Given the description of an element on the screen output the (x, y) to click on. 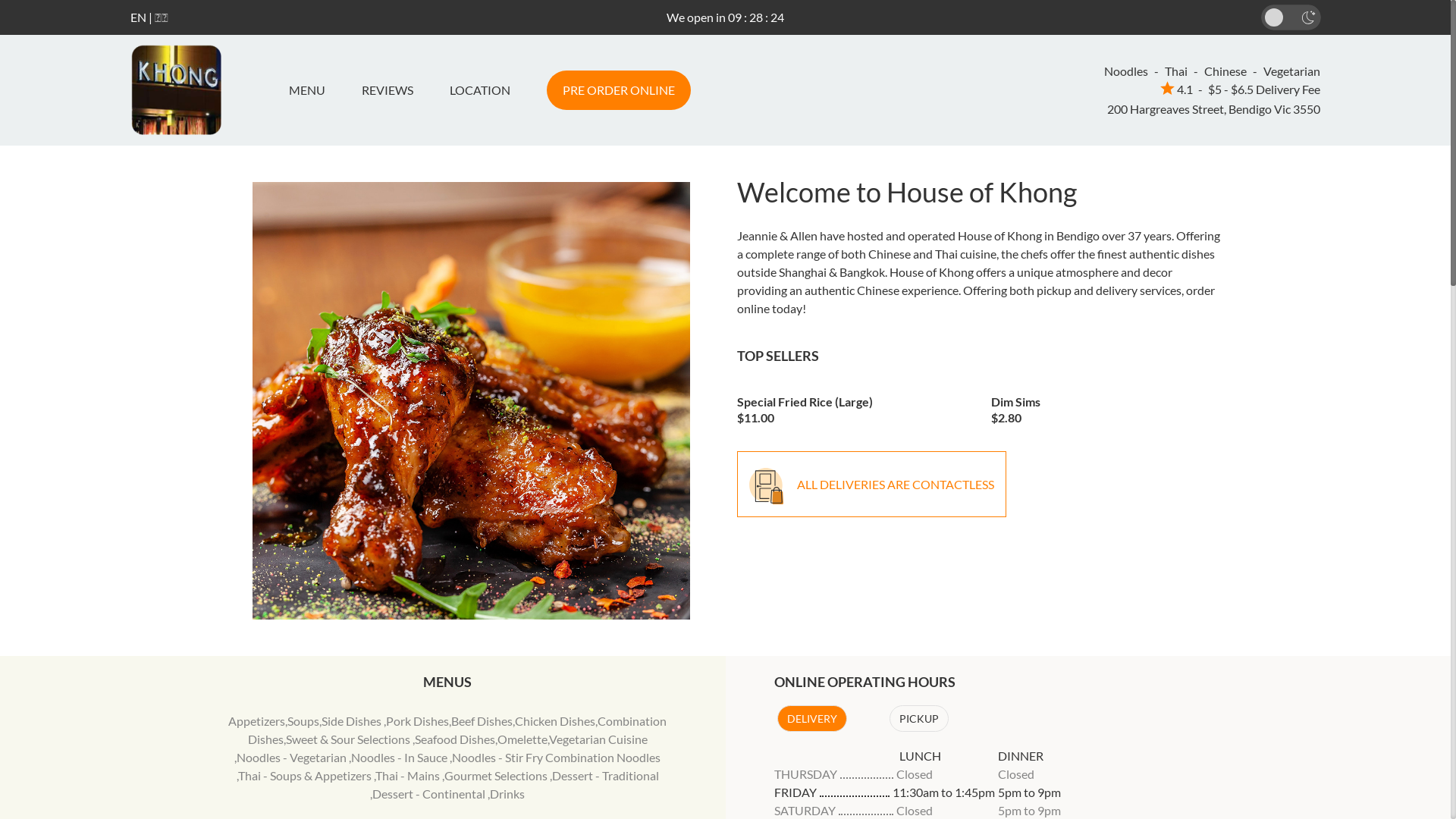
Soups Element type: text (303, 720)
Noodles - Stir Fry Combination Noodles Element type: text (555, 756)
Noodles - Vegetarian Element type: text (292, 756)
PRE ORDER ONLINE Element type: text (618, 89)
Omelette Element type: text (522, 738)
Appetizers Element type: text (256, 720)
LOCATION Element type: text (478, 90)
Vegetarian Cuisine Element type: text (598, 738)
MENU Element type: text (312, 90)
Thai - Soups & Appetizers Element type: text (305, 775)
Sweet & Sour Selections Element type: text (348, 738)
Combination Dishes Element type: text (457, 729)
Side Dishes Element type: text (352, 720)
Beef Dishes Element type: text (481, 720)
DELIVERY Element type: text (811, 718)
Thai - Mains Element type: text (408, 775)
Dim Sims
$2.80 Element type: text (1107, 404)
Chicken Dishes Element type: text (554, 720)
Dessert - Traditional Element type: text (605, 775)
Special Fried Rice (Large)
$11.00 Element type: text (853, 404)
PICKUP Element type: text (917, 718)
4.1 Element type: text (1176, 88)
EN Element type: text (138, 16)
Drinks Element type: text (506, 793)
Noodles - In Sauce Element type: text (400, 756)
Pork Dishes Element type: text (416, 720)
Gourmet Selections Element type: text (496, 775)
Dessert - Continental Element type: text (429, 793)
Seafood Dishes Element type: text (454, 738)
REVIEWS Element type: text (386, 90)
